Given the description of an element on the screen output the (x, y) to click on. 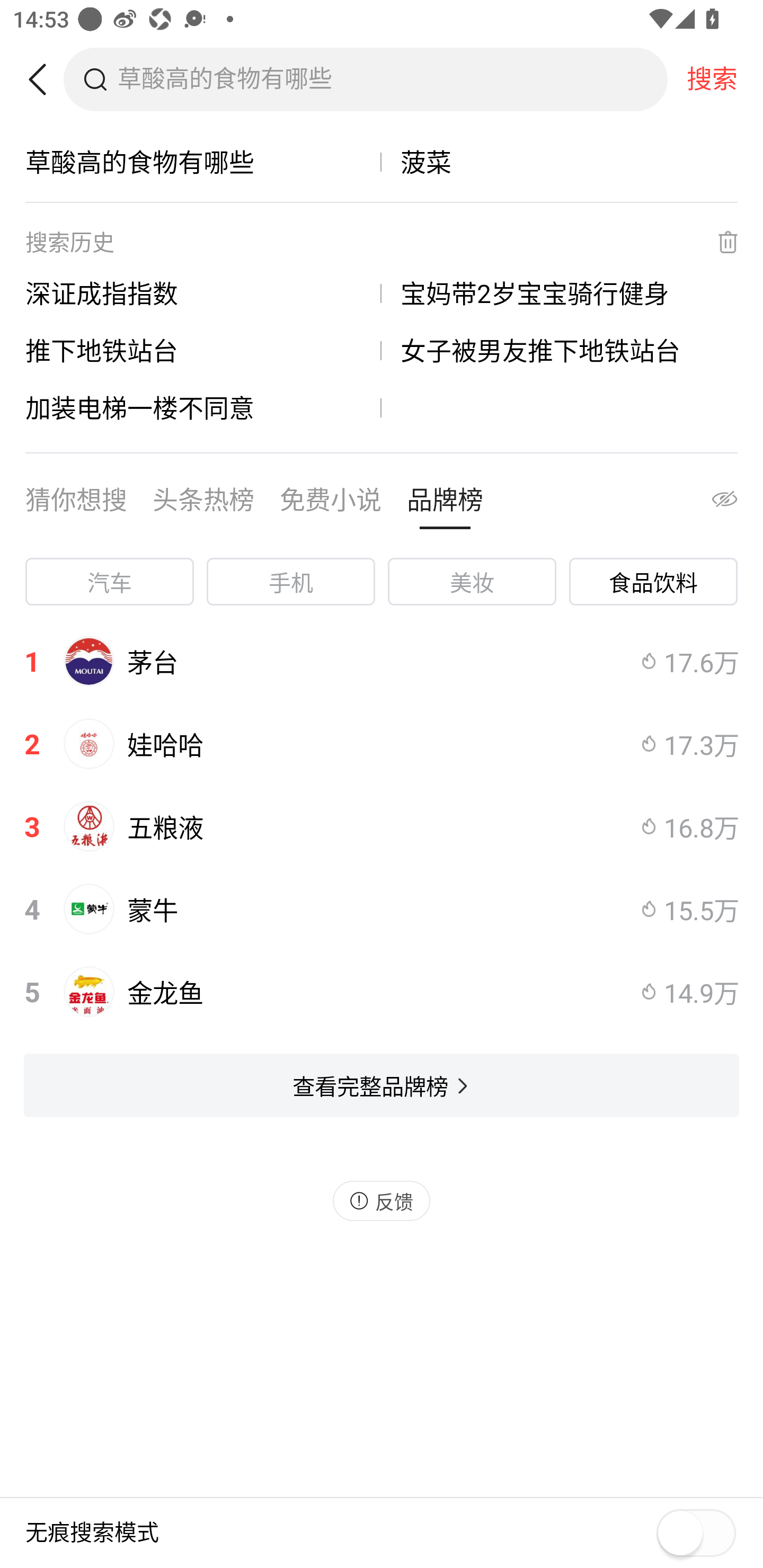
搜索框，草酸高的食物有哪些 (392, 79)
搜索 (711, 79)
返回 (44, 79)
草酸高的食物有哪些，链接, 草酸高的食物有哪些 (203, 162)
菠菜，链接, 菠菜 (559, 162)
删除搜索历史 (716, 242)
深证成指指数，链接, 深证成指指数 (203, 292)
宝妈带2岁宝宝骑行健身，链接, 宝妈带2岁宝宝骑行健身 (559, 292)
推下地铁站台，链接, 推下地铁站台 (203, 350)
女子被男友推下地铁站台，链接, 女子被男友推下地铁站台 (559, 350)
加装电梯一楼不同意，链接, 加装电梯一楼不同意 (203, 407)
猜你想搜 按钮 (76, 503)
头条热榜 按钮 (203, 503)
免费小说 按钮 (330, 503)
品牌榜 按钮 已选中 (444, 503)
隐藏全部推荐词内容 按钮 (706, 503)
汽车,按钮 (109, 581)
手机,按钮 (290, 581)
美妆,按钮 (471, 581)
食品饮料,选中 (653, 581)
1,茅台热度值,17.6万 (381, 660)
2,娃哈哈热度值,17.3万 (381, 743)
3,五粮液热度值,16.8万 (381, 826)
4,蒙牛热度值,15.5万 (381, 909)
5,金龙鱼热度值,14.9万 (381, 991)
查看完整品牌榜 按钮 (381, 1084)
反馈, 按钮 (381, 1200)
